Given the description of an element on the screen output the (x, y) to click on. 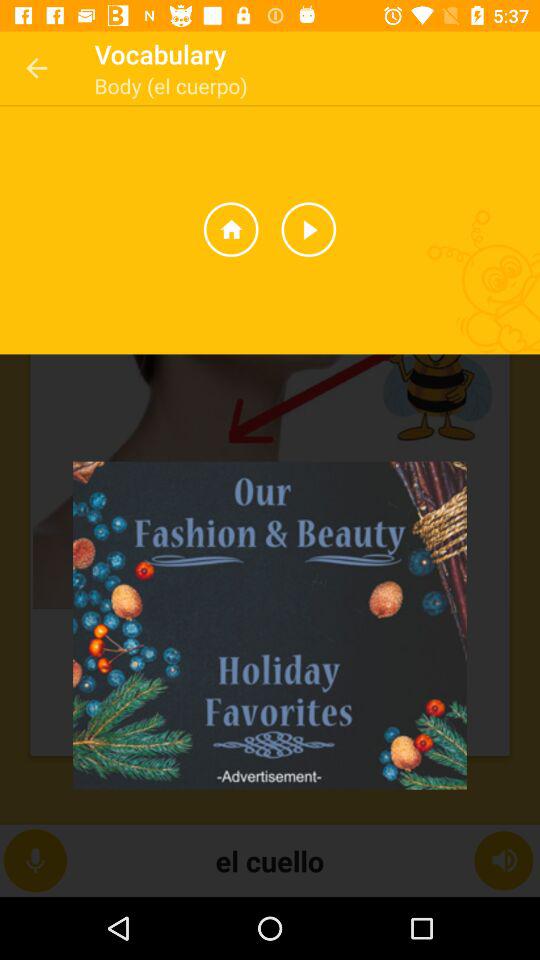
click on home icon (230, 229)
click on play button (309, 229)
